Given the description of an element on the screen output the (x, y) to click on. 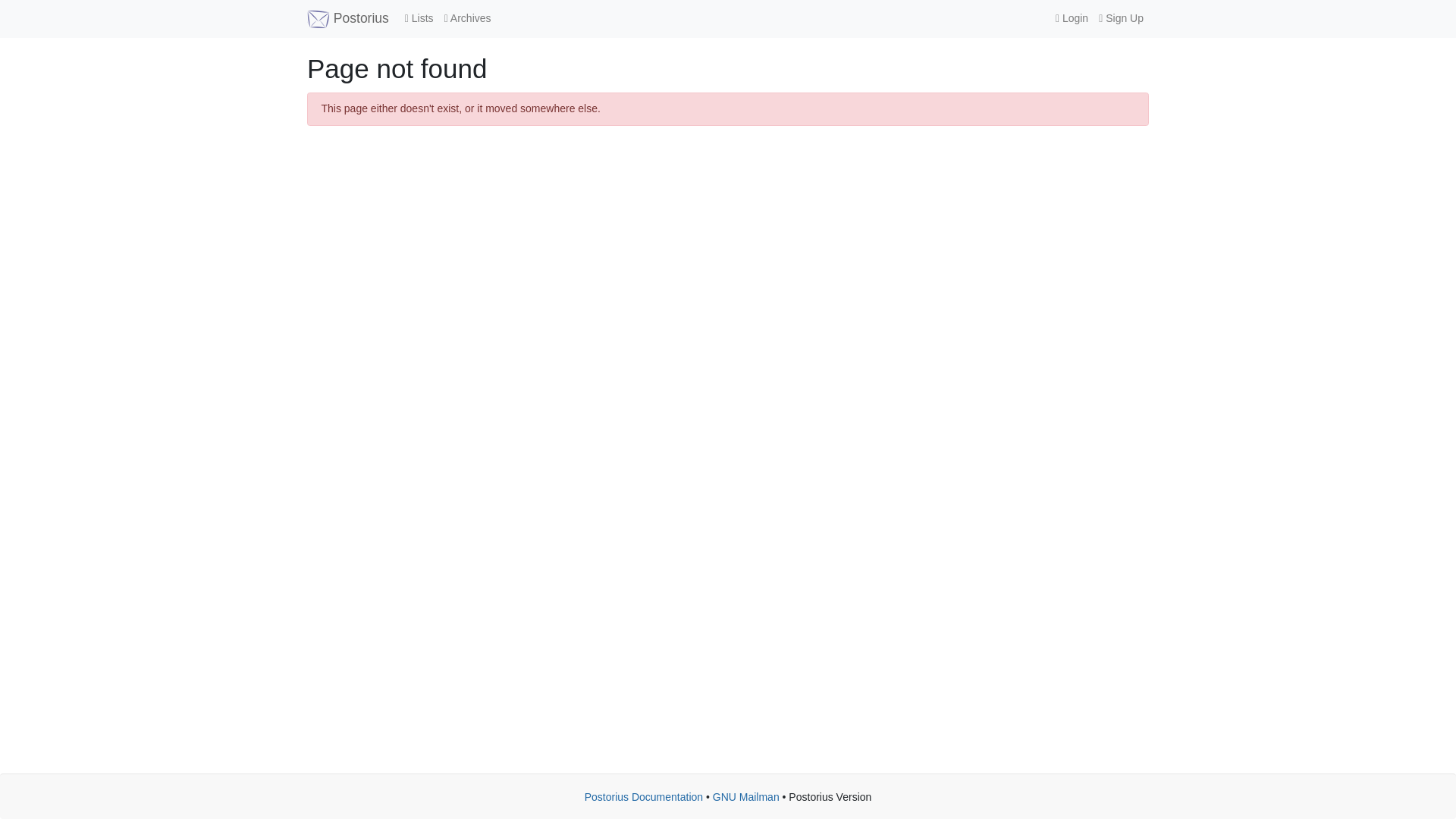
Postorius (347, 18)
Login (1071, 17)
Sign Up (1120, 17)
Lists (418, 17)
Archives (467, 17)
